Given the description of an element on the screen output the (x, y) to click on. 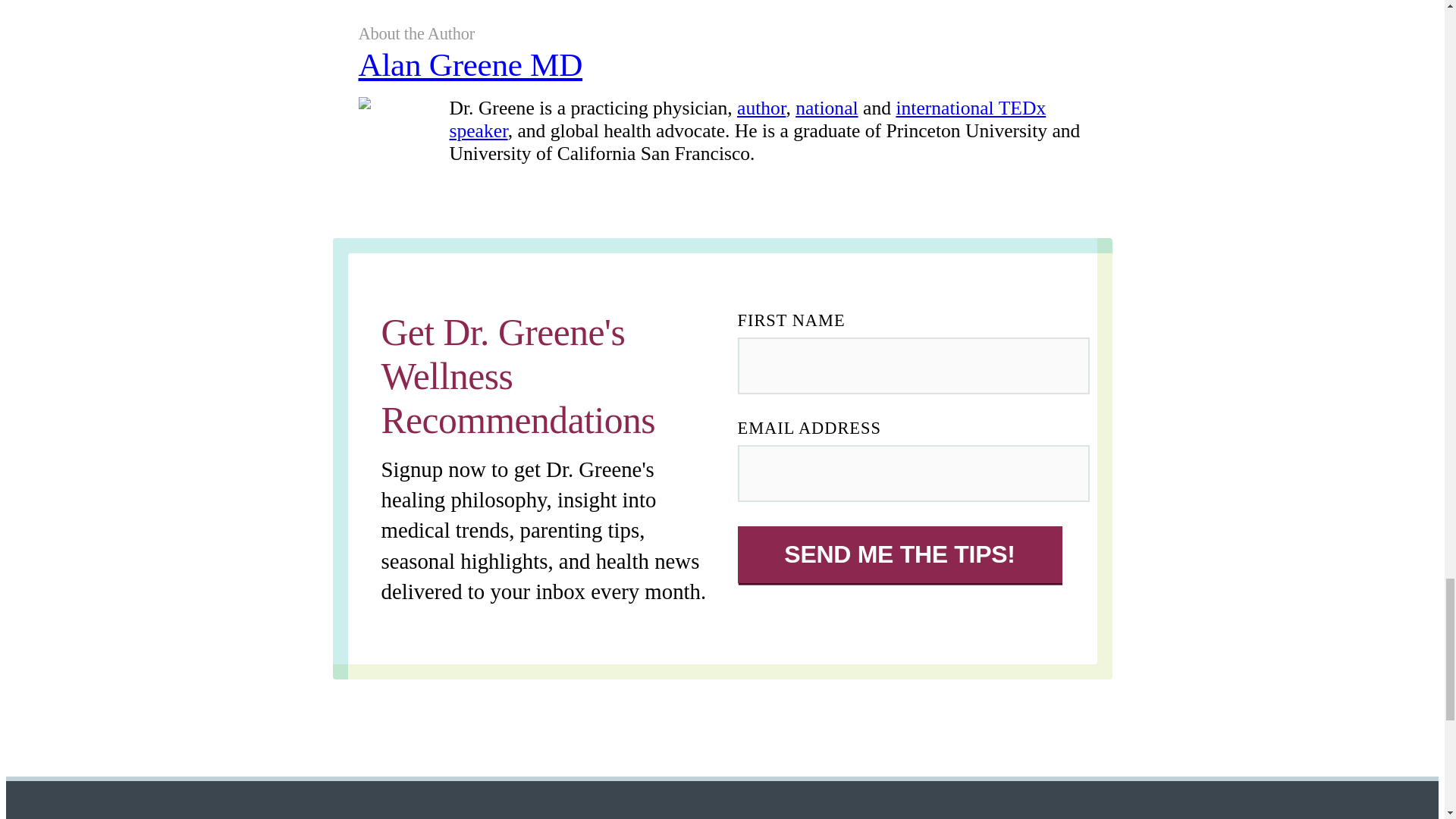
international TEDx speaker (746, 119)
Alan Greene MD (722, 71)
SEND ME THE TIPS! (898, 554)
author (761, 107)
national (825, 107)
